Given the description of an element on the screen output the (x, y) to click on. 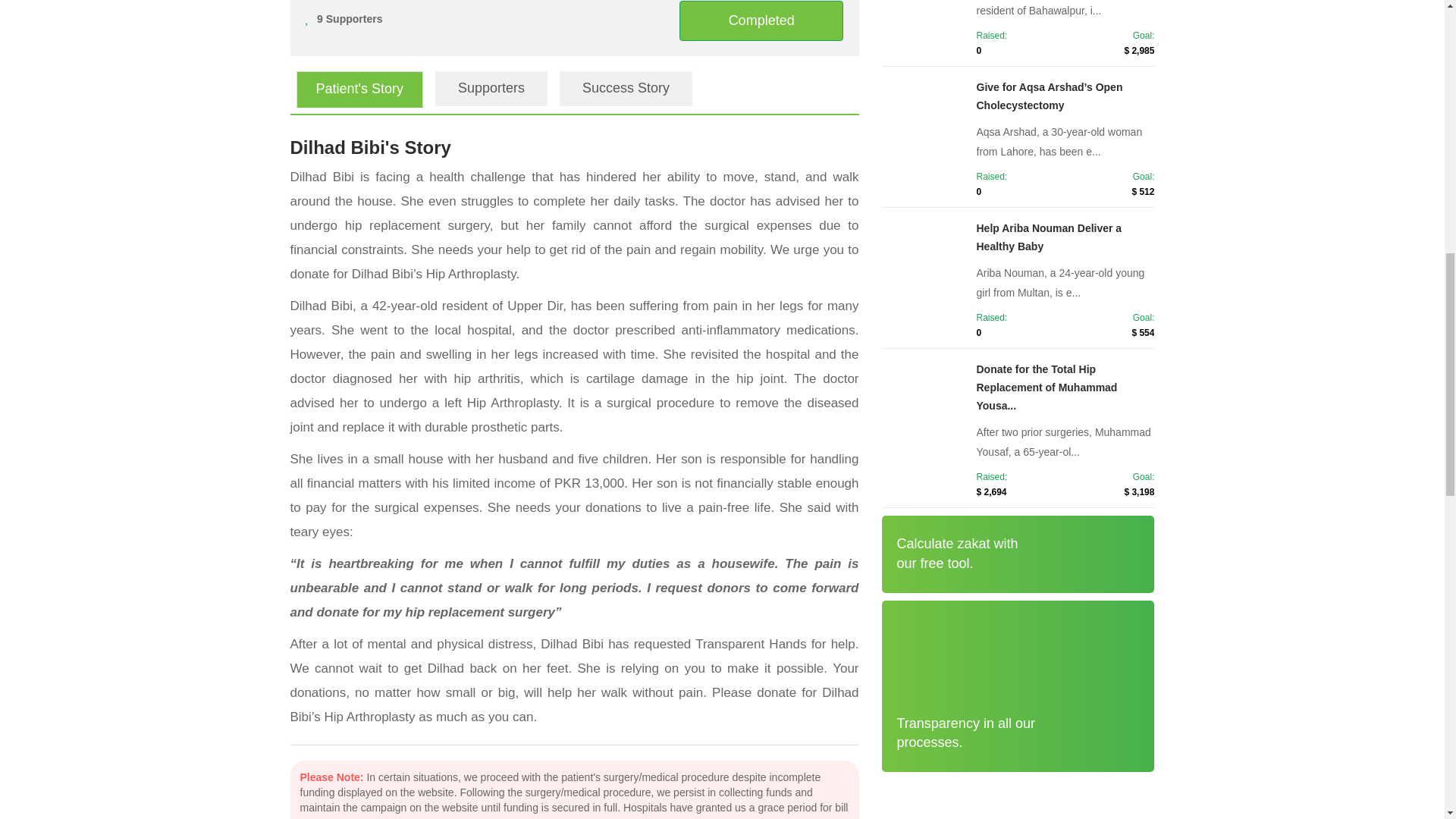
Supporters (491, 88)
Completed (761, 19)
Success Story (626, 88)
Completed (761, 20)
Patient's Story (359, 89)
